Given the description of an element on the screen output the (x, y) to click on. 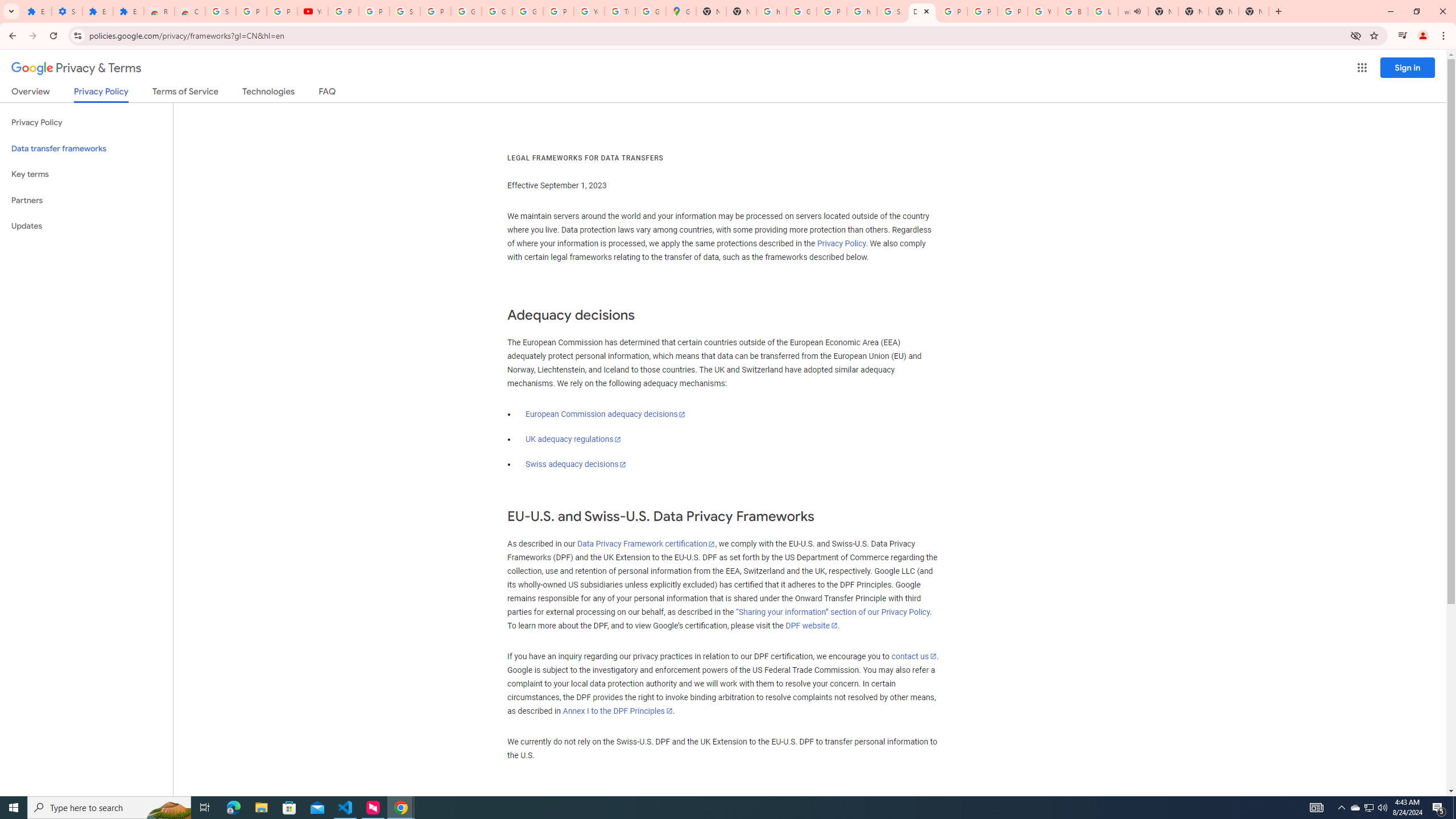
Google Maps (681, 11)
New Tab (1223, 11)
Privacy Help Center - Policies Help (951, 11)
